Given the description of an element on the screen output the (x, y) to click on. 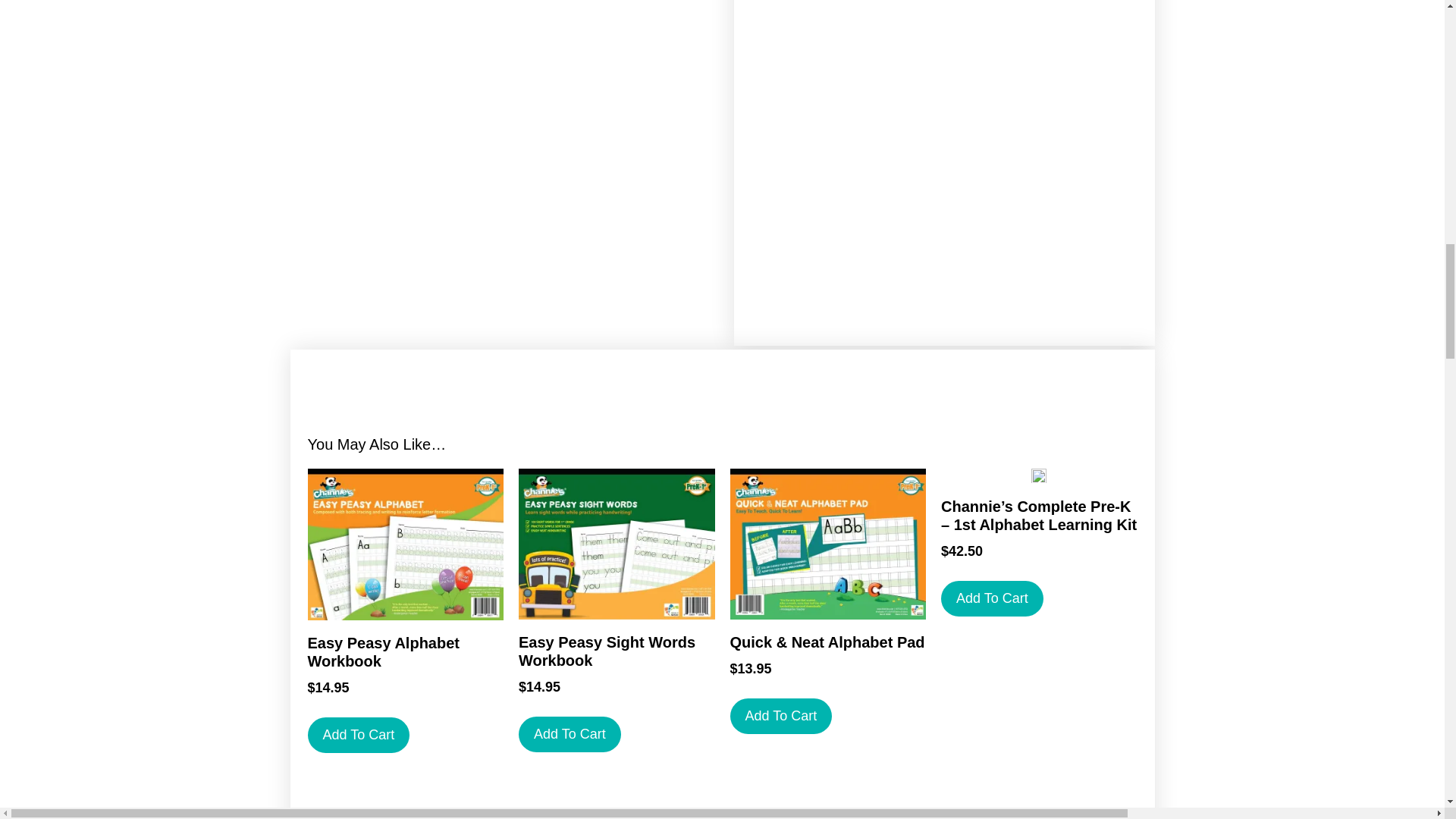
Add To Cart (569, 734)
Add To Cart (358, 734)
